Given the description of an element on the screen output the (x, y) to click on. 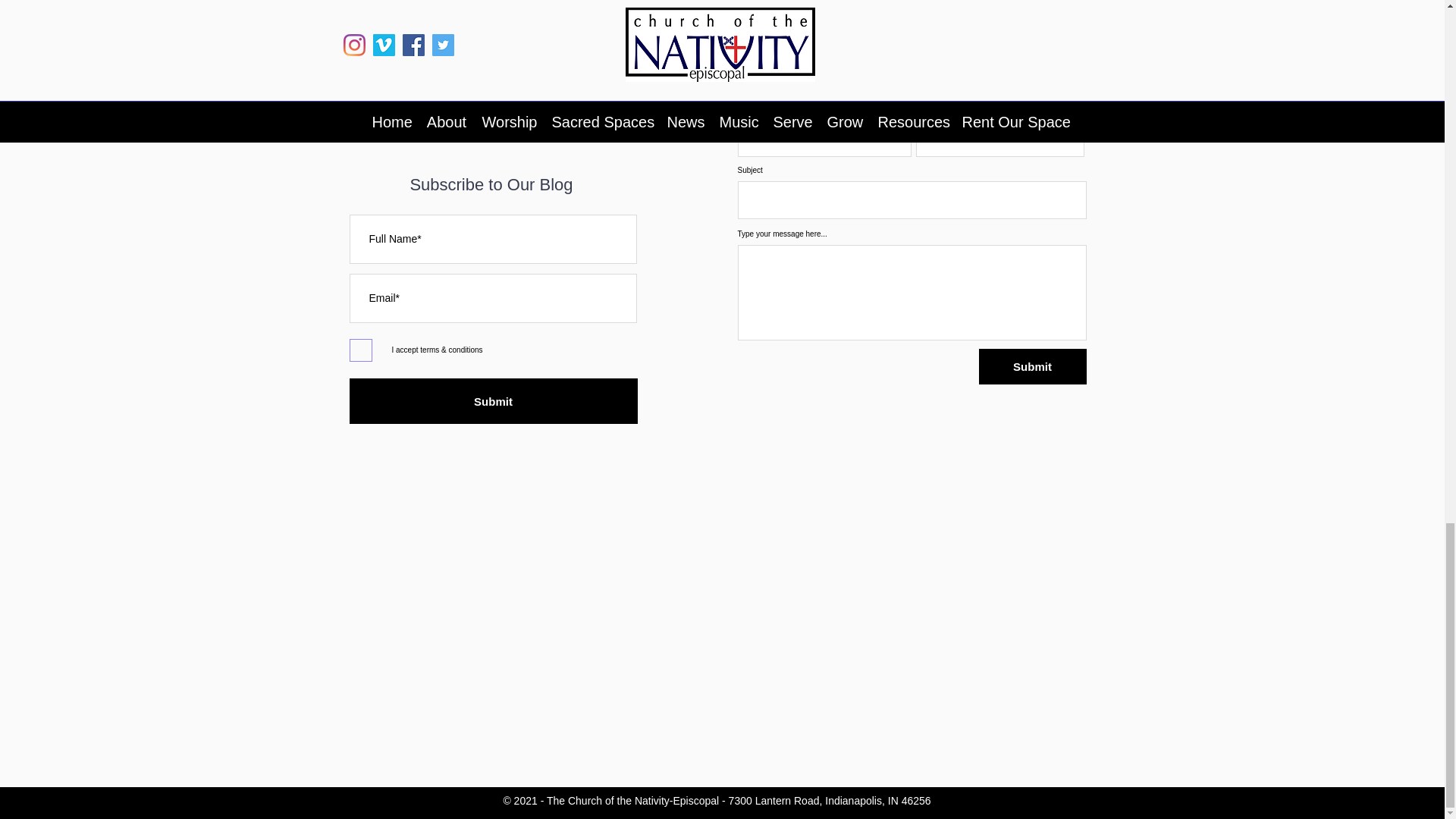
Submit (493, 401)
Submit (1032, 366)
